Given the description of an element on the screen output the (x, y) to click on. 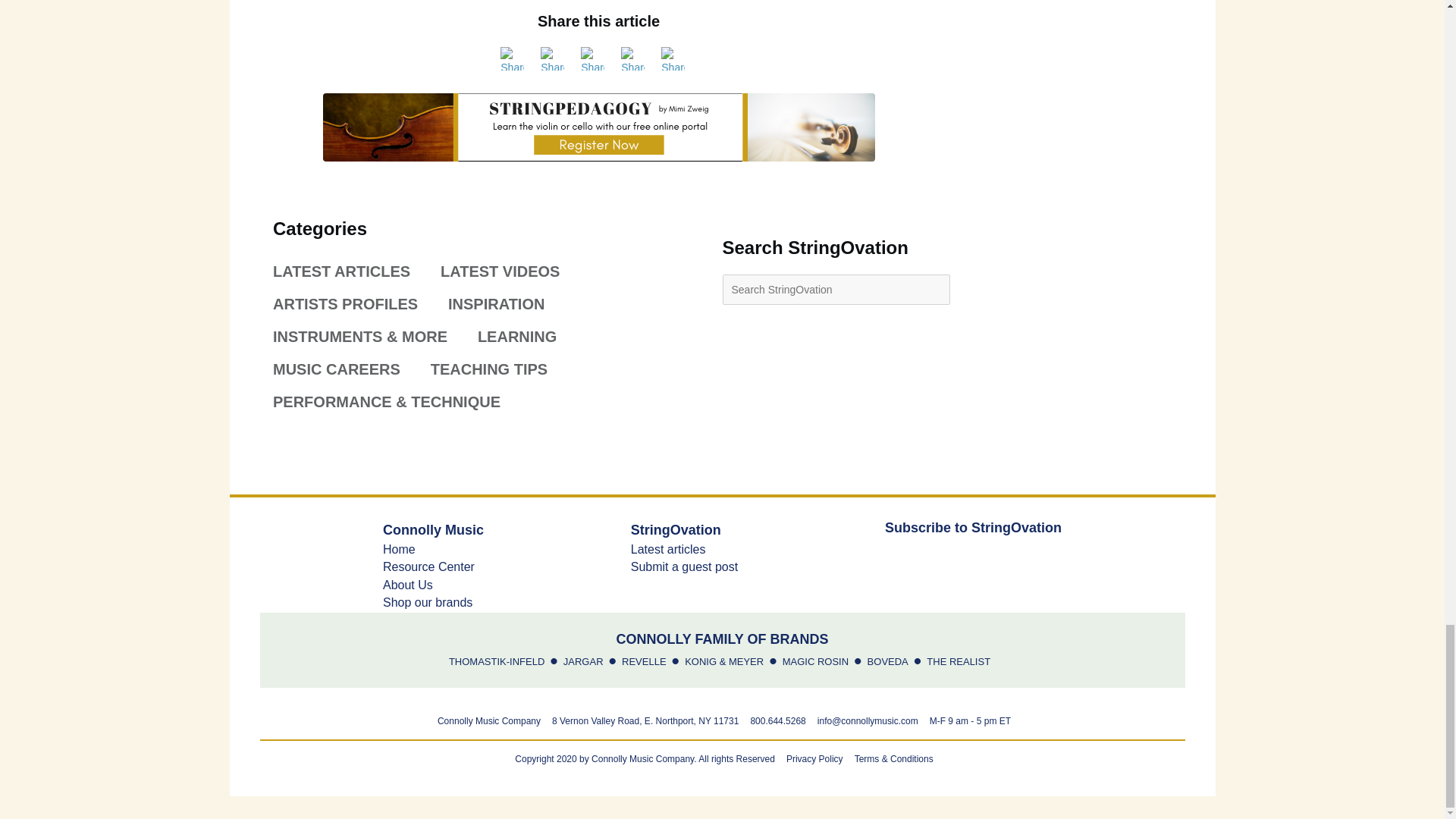
LATEST VIDEOS (513, 271)
Latest articles (668, 549)
About Us (407, 584)
MUSIC CAREERS (350, 368)
ARTISTS PROFILES (359, 304)
Home (398, 549)
Submit a guest post (684, 566)
LEARNING (530, 336)
Shop our brands (426, 602)
INSPIRATION (510, 304)
